Given the description of an element on the screen output the (x, y) to click on. 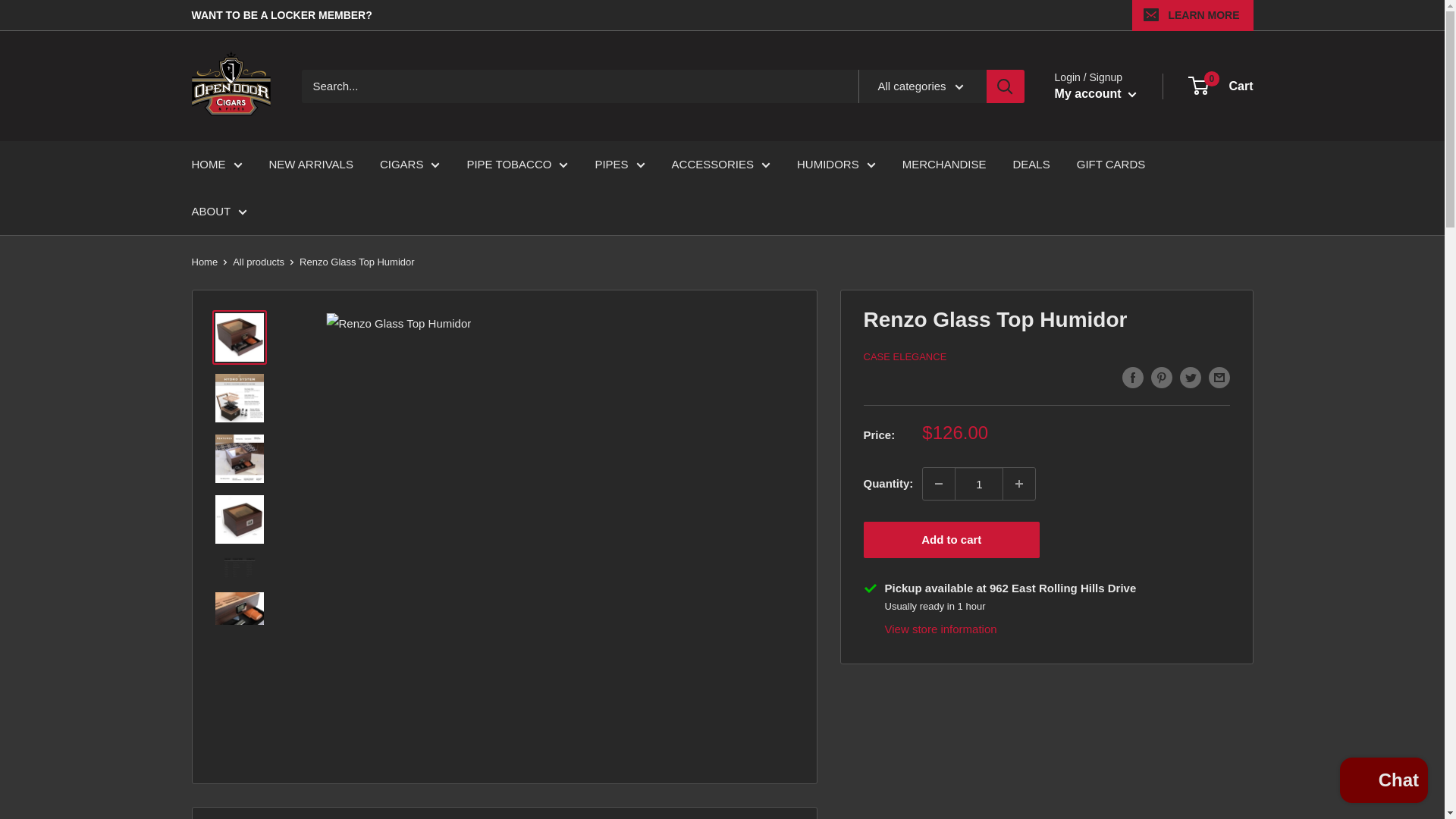
1 (979, 483)
WANT TO BE A LOCKER MEMBER? (280, 15)
Shopify online store chat (1383, 781)
Increase quantity by 1 (1019, 483)
LEARN MORE (1192, 15)
Decrease quantity by 1 (939, 483)
